Given the description of an element on the screen output the (x, y) to click on. 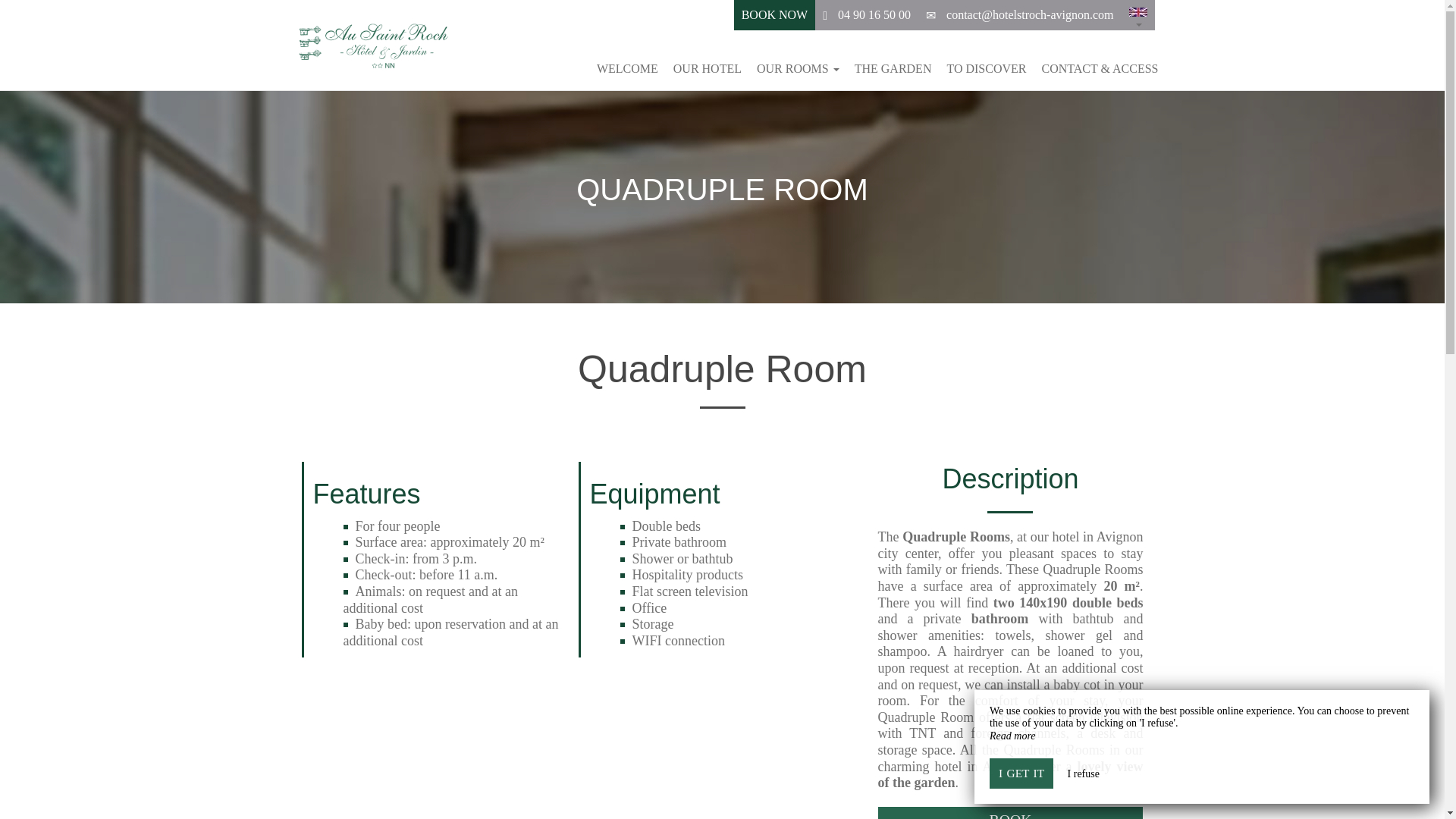
04 90 16 50 00 (874, 14)
OUR HOTEL (706, 68)
BOOK (1009, 812)
THE GARDEN (892, 68)
Our rooms (798, 68)
To discover (986, 68)
Our hotel (706, 68)
The garden (892, 68)
Welcome (627, 68)
OUR ROOMS (798, 68)
